Given the description of an element on the screen output the (x, y) to click on. 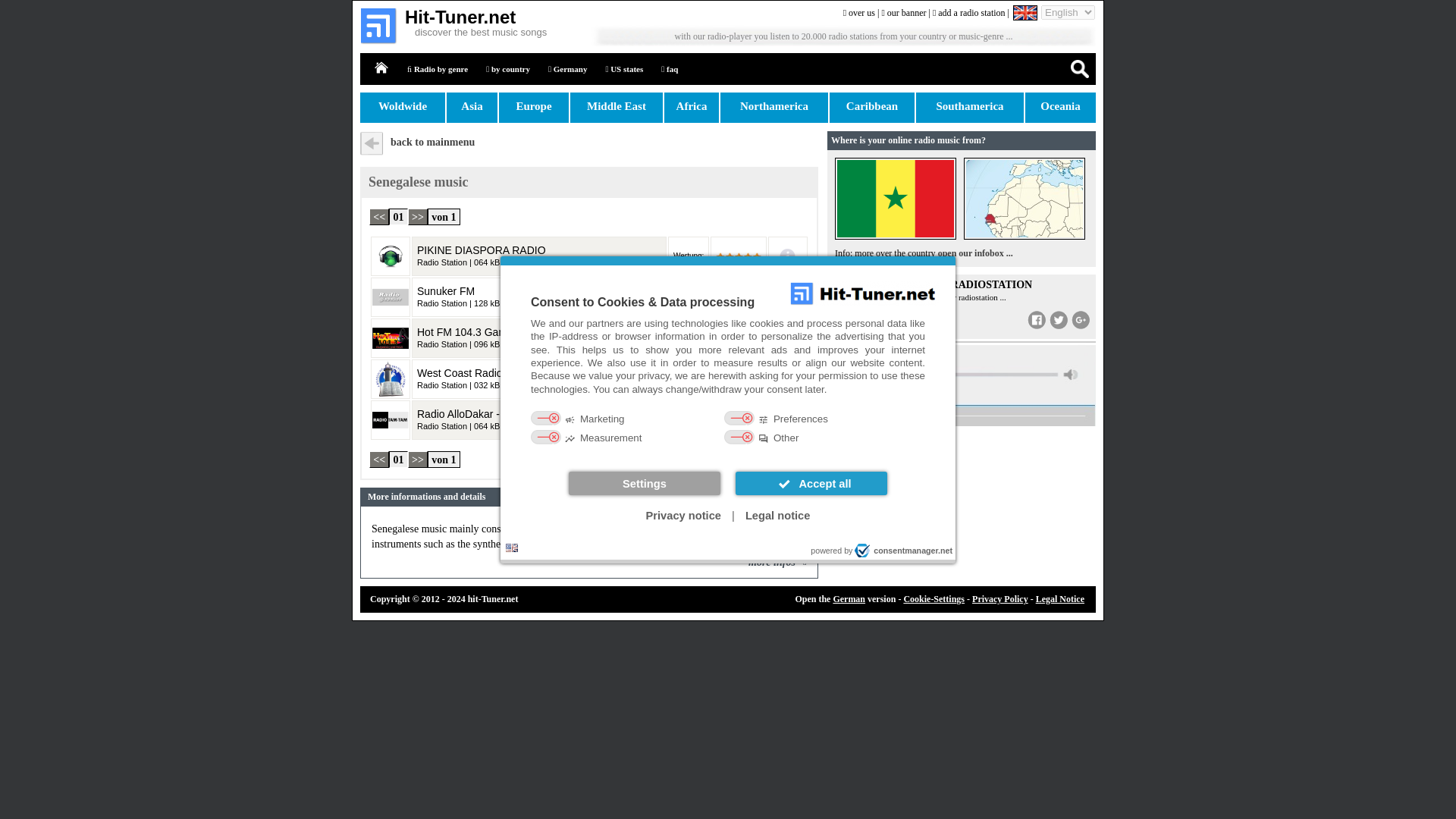
back to mainmenu (432, 142)
Radio by genre (437, 68)
Language: en (511, 547)
Germany (566, 68)
Home (381, 68)
Language: en (511, 547)
Accept all (810, 483)
Privacy notice (684, 515)
US states (623, 68)
over us (859, 12)
Legal notice (778, 515)
Purpose (727, 429)
Settings (644, 483)
consentmanager.net (903, 549)
by country (507, 68)
